Given the description of an element on the screen output the (x, y) to click on. 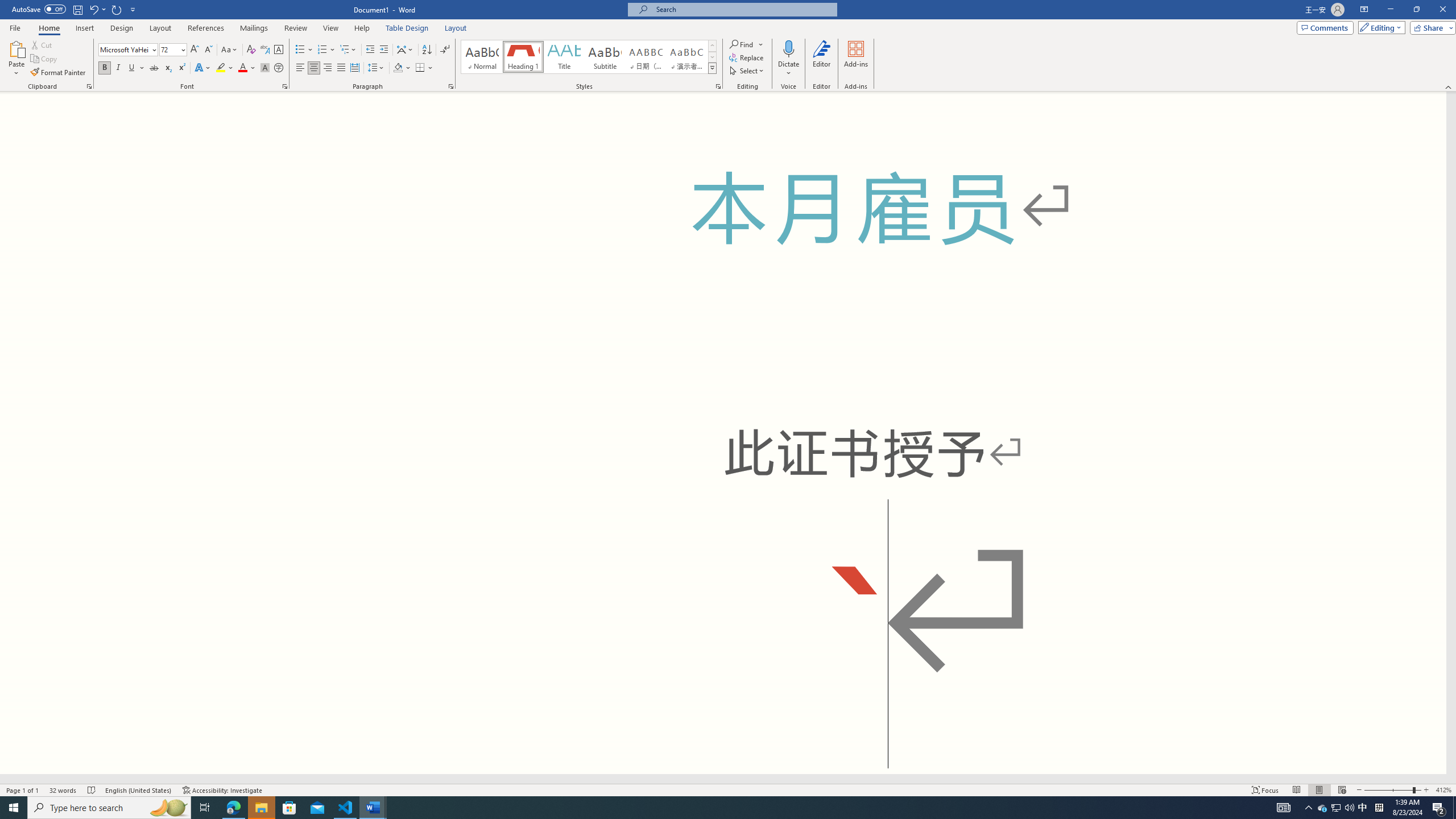
Undo Grow Font (96, 9)
